Given the description of an element on the screen output the (x, y) to click on. 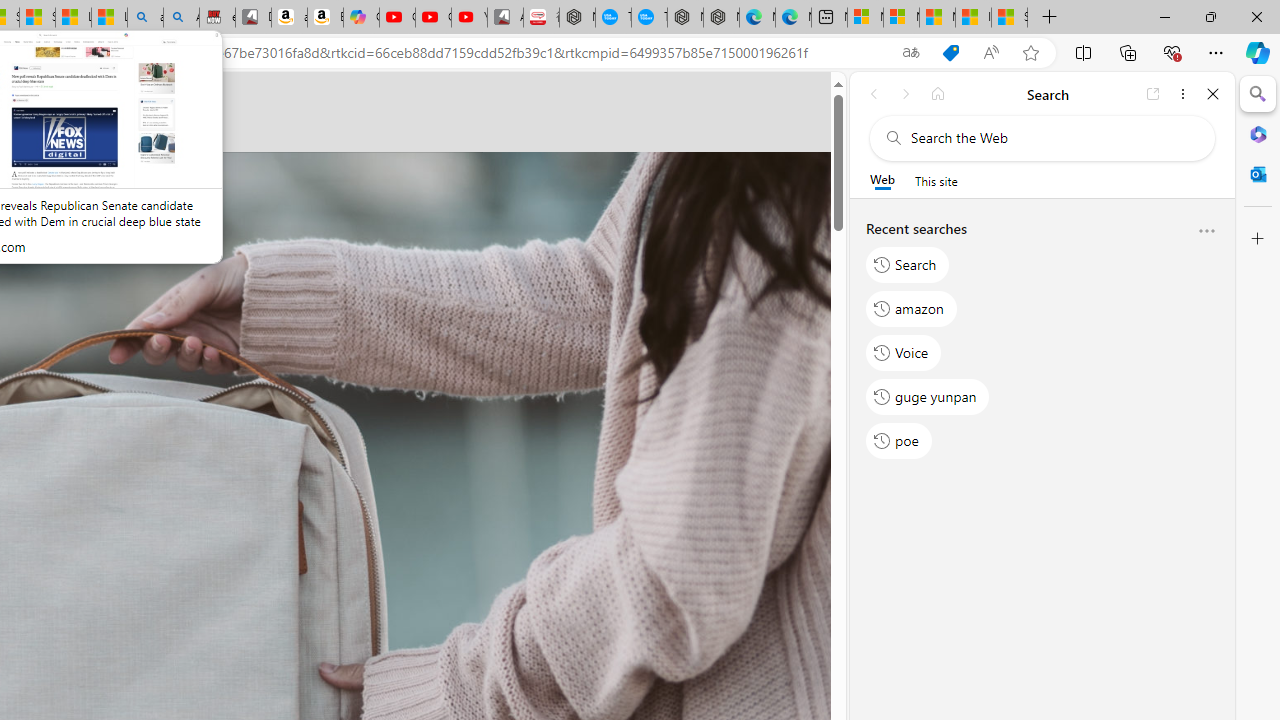
Customize (1258, 239)
YouTube Kids - An App Created for Kids to Explore Content (469, 17)
Recent searchesSearchamazonVoiceguge yunpanpoe (1042, 342)
Home (938, 93)
Outlook (1258, 174)
All Cubot phones (505, 17)
